Given the description of an element on the screen output the (x, y) to click on. 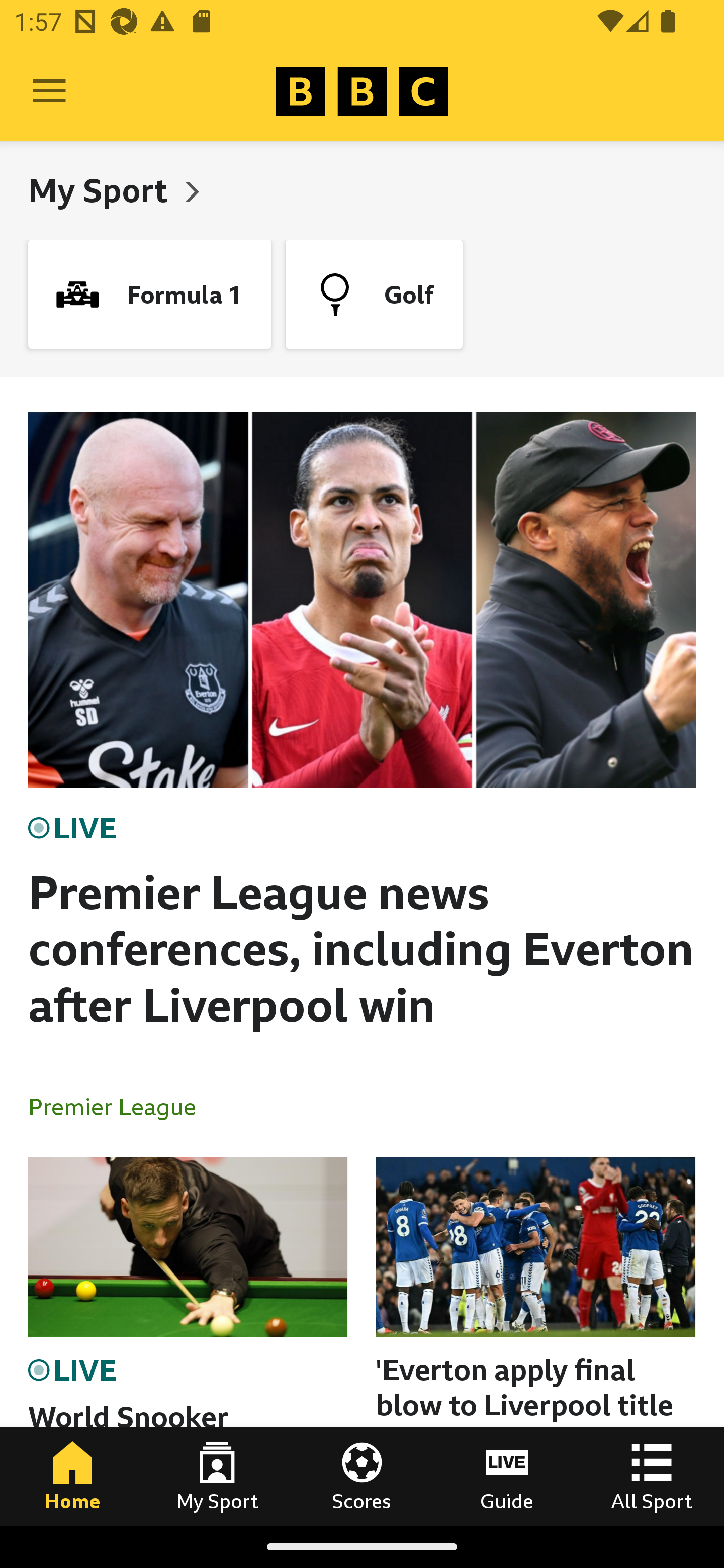
Open Menu (49, 91)
My Sport (101, 190)
Premier League In the section Premier League (119, 1106)
My Sport (216, 1475)
Scores (361, 1475)
Guide (506, 1475)
All Sport (651, 1475)
